Given the description of an element on the screen output the (x, y) to click on. 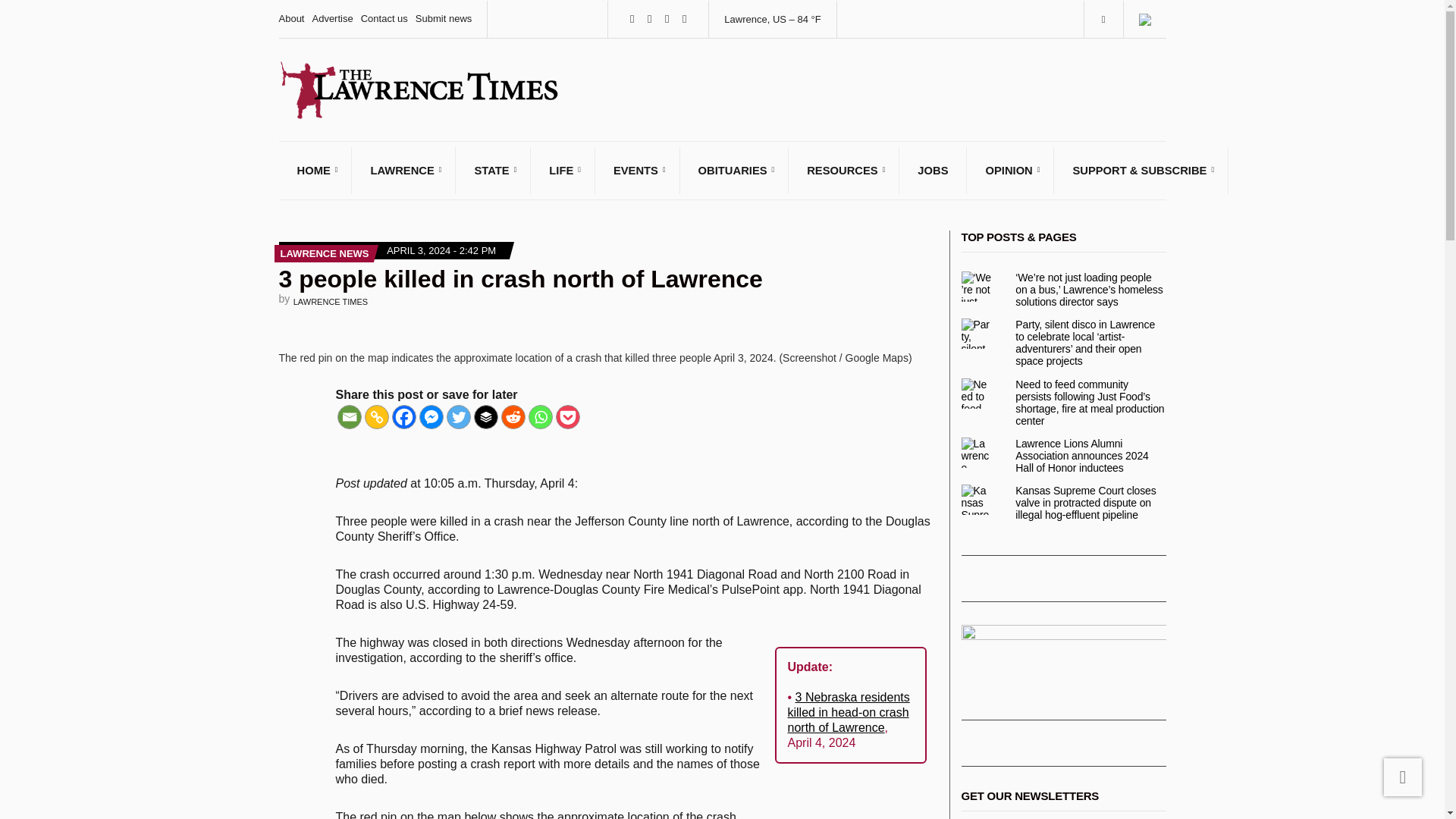
Reddit (512, 416)
Twitter (649, 19)
HOME (315, 170)
YouTube (684, 19)
Whatsapp (539, 416)
Facebook (631, 19)
About (291, 18)
Facebook (402, 416)
Pocket (566, 416)
LAWRENCE (403, 170)
